Given the description of an element on the screen output the (x, y) to click on. 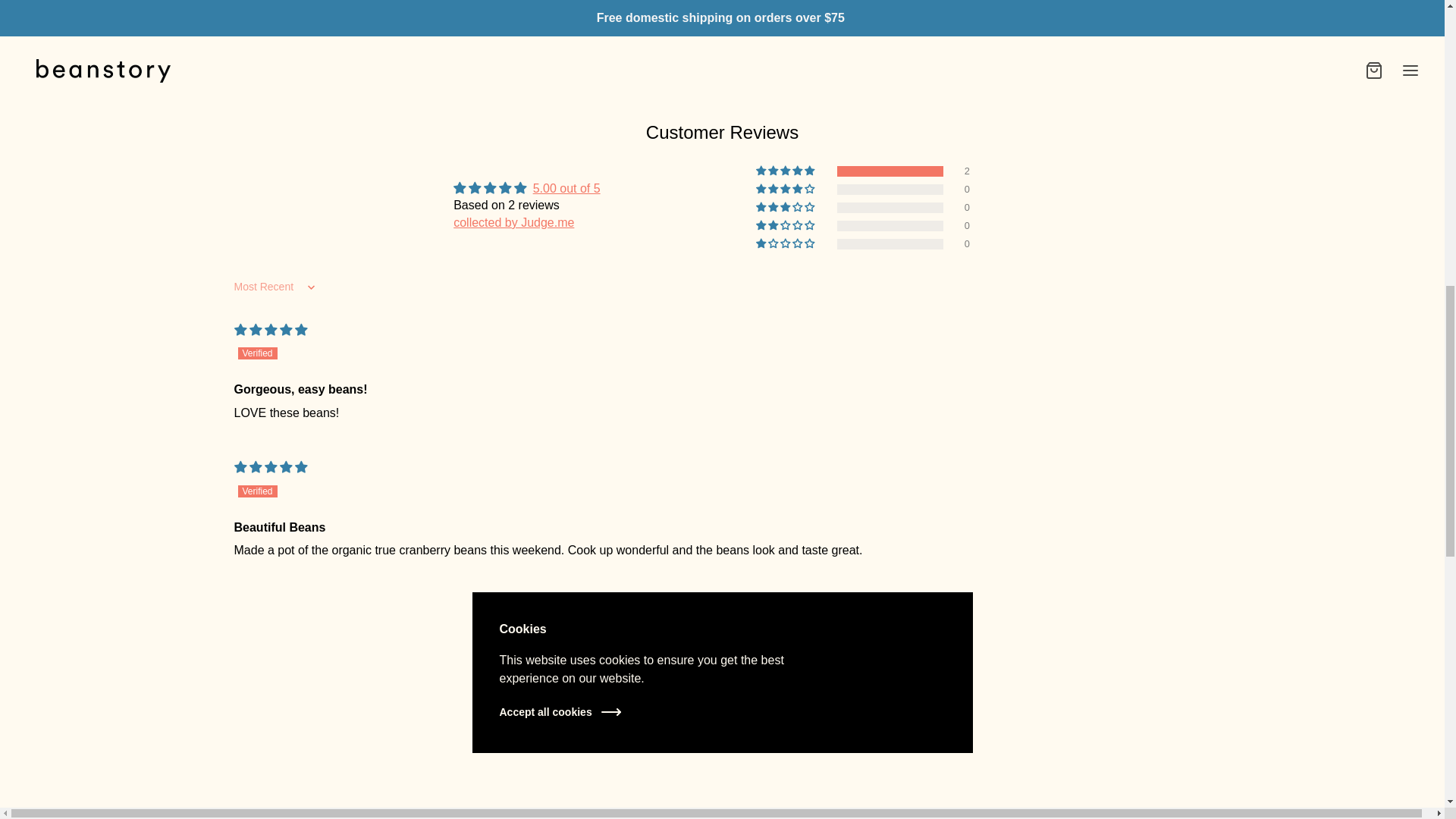
collected by Judge.me (512, 222)
BACK TO SHOP (981, 9)
5.00 out of 5 (565, 187)
